Given the description of an element on the screen output the (x, y) to click on. 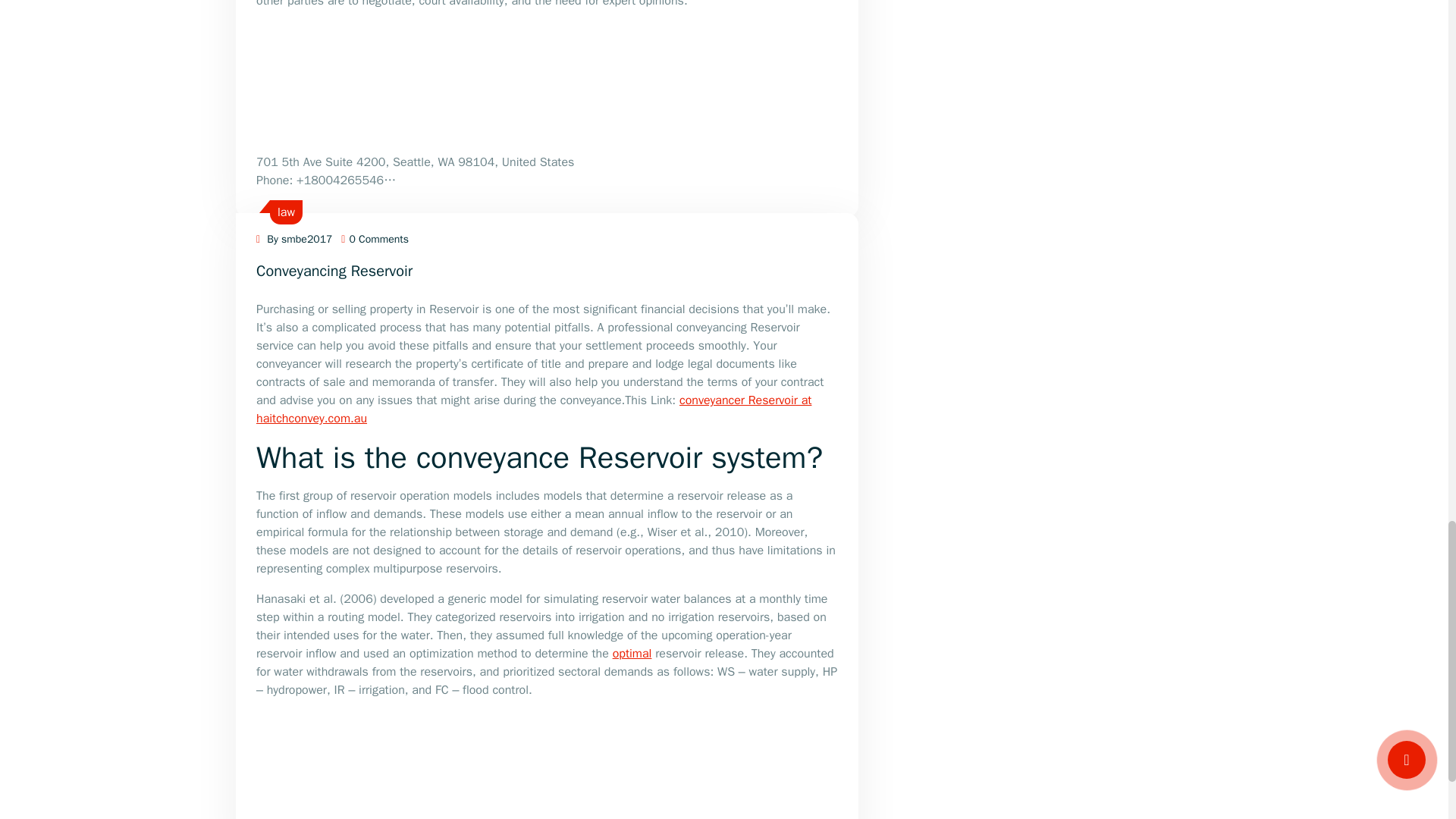
By smbe2017 (293, 238)
conveyancer Reservoir at haitchconvey.com.au (533, 409)
Conveyancing Reservoir (334, 270)
law (286, 212)
0 Comments (374, 238)
optimal (632, 653)
